Given the description of an element on the screen output the (x, y) to click on. 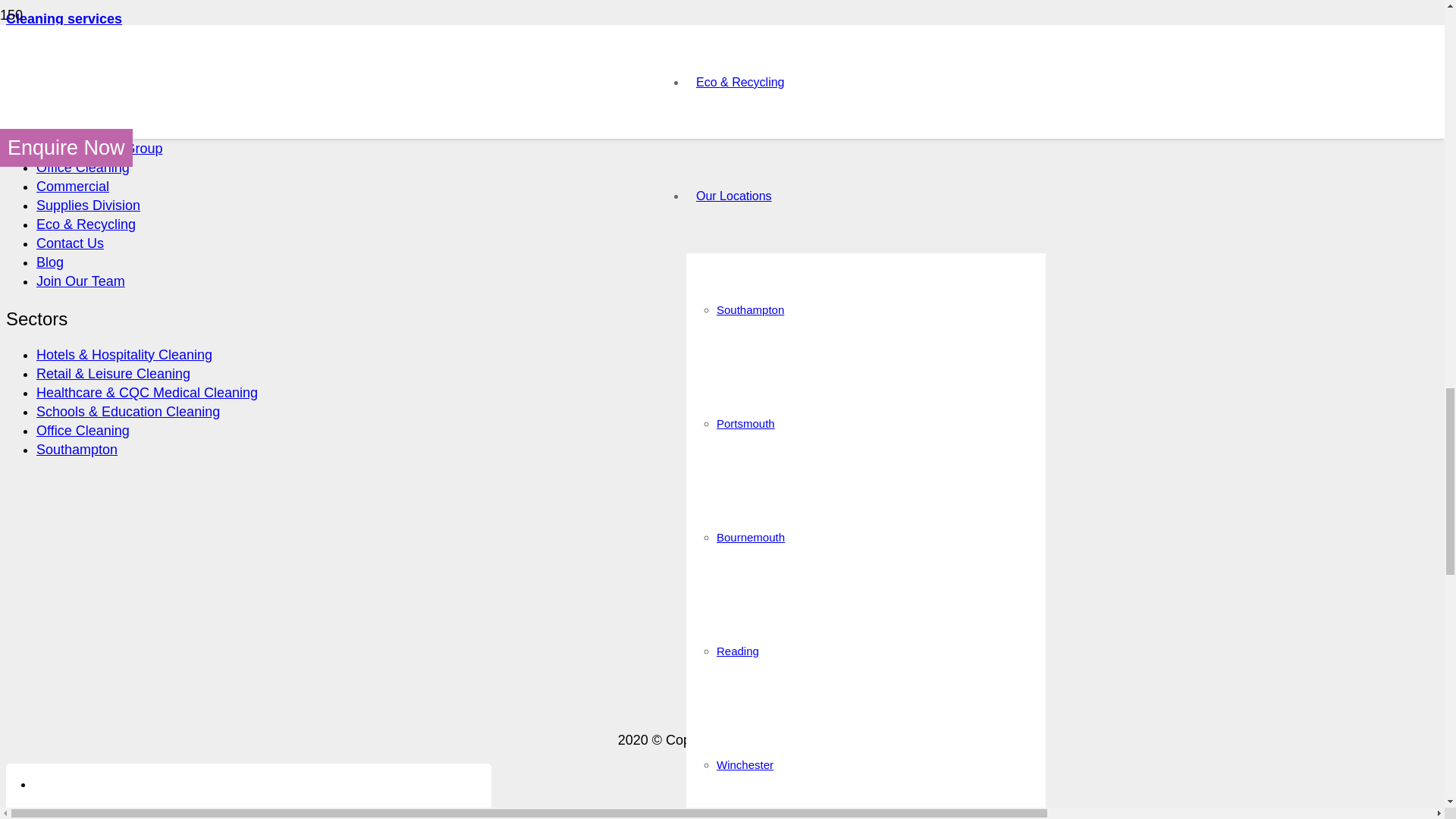
Office Cleaning (82, 167)
Commercial (72, 186)
CCL Cleaning Group (98, 148)
Cleaning services (63, 18)
Supplies Division (87, 205)
Contact Us (69, 242)
